Given the description of an element on the screen output the (x, y) to click on. 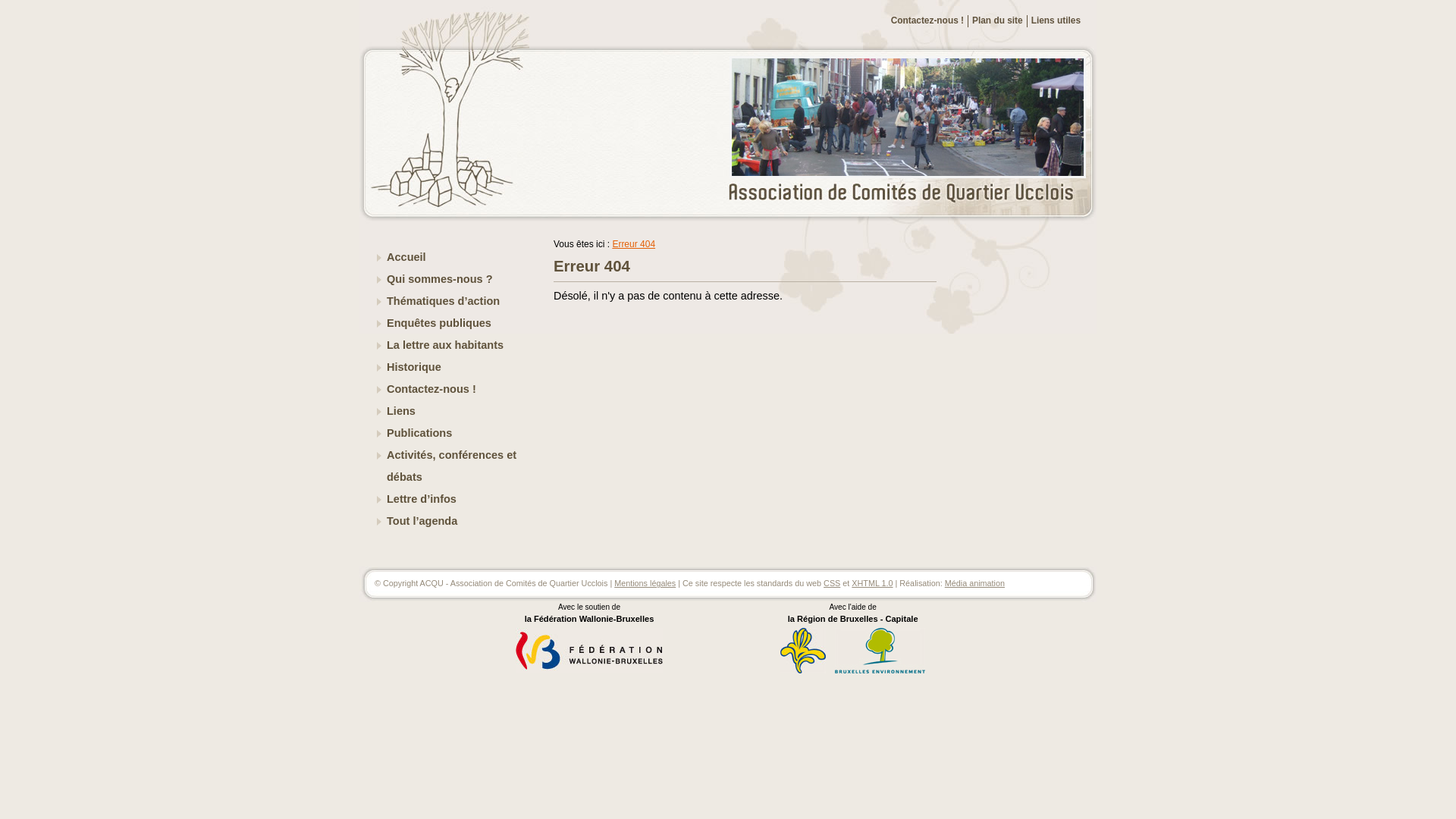
La lettre aux habitants Element type: text (458, 345)
Bruxelles Environnement Element type: hover (879, 650)
XHTML 1.0 Element type: text (871, 582)
Bruxelles Capitale Element type: hover (802, 670)
Erreur 404 Element type: text (633, 243)
Contactez-nous ! Element type: text (927, 20)
Publications Element type: text (458, 433)
Historique Element type: text (458, 367)
Qui sommes-nous ? Element type: text (458, 279)
CSS Element type: text (831, 582)
Liens Element type: text (458, 411)
Plan du site Element type: text (997, 20)
Accueil Element type: text (458, 257)
Contactez-nous ! Element type: text (458, 389)
Bruxelles Capitale Element type: hover (802, 650)
Bruxelles Environnement Element type: hover (879, 670)
Liens utiles Element type: text (1055, 20)
